Given the description of an element on the screen output the (x, y) to click on. 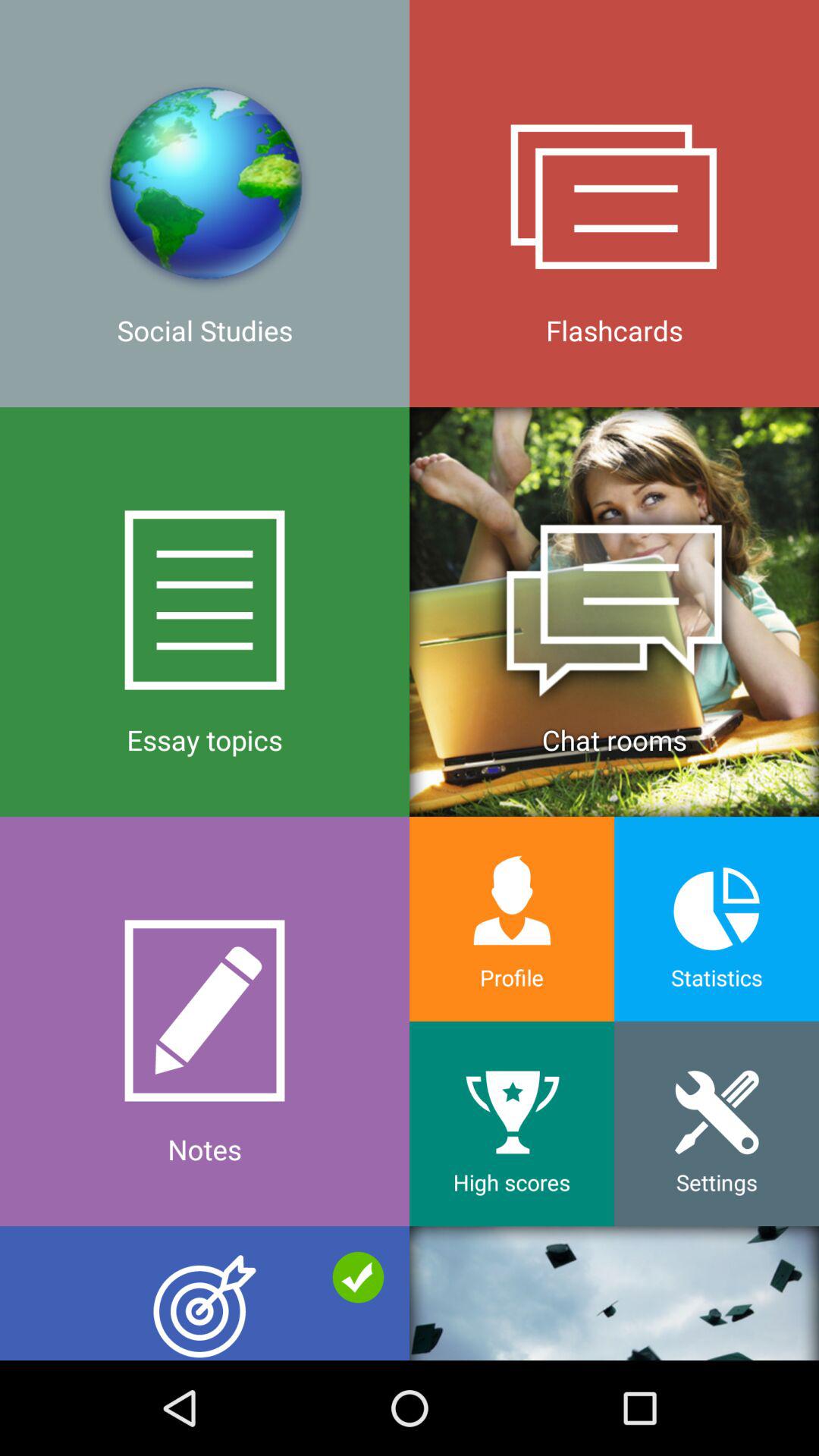
select item above notes icon (614, 611)
